Given the description of an element on the screen output the (x, y) to click on. 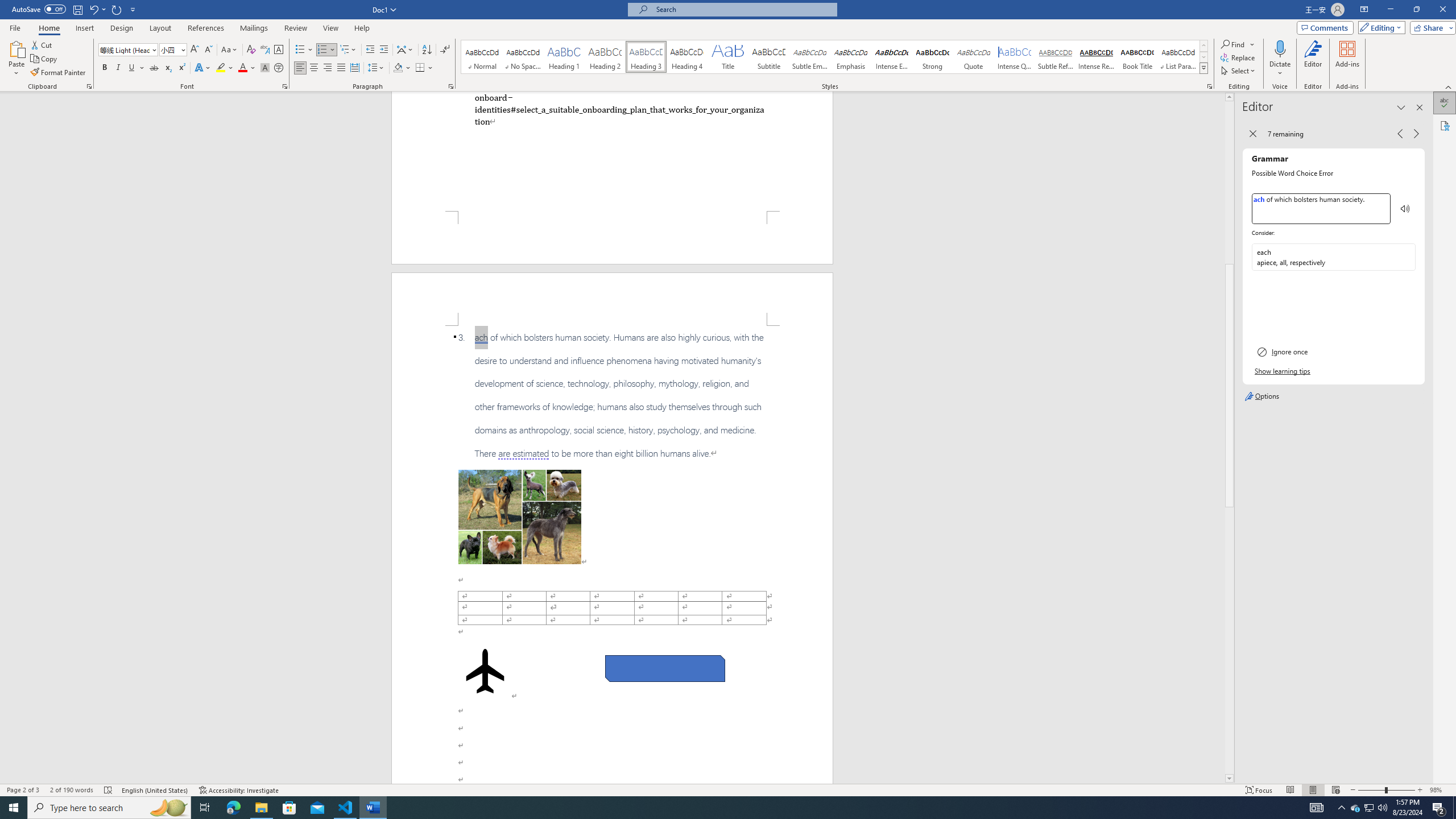
Heading 3 (646, 56)
Intense Quote (1014, 56)
Customize Quick Access Toolbar (133, 9)
Justify (340, 67)
Back (1253, 133)
Footer -Section 1- (611, 237)
Change Case (229, 49)
Zoom (1386, 790)
Language English (United States) (154, 790)
